Given the description of an element on the screen output the (x, y) to click on. 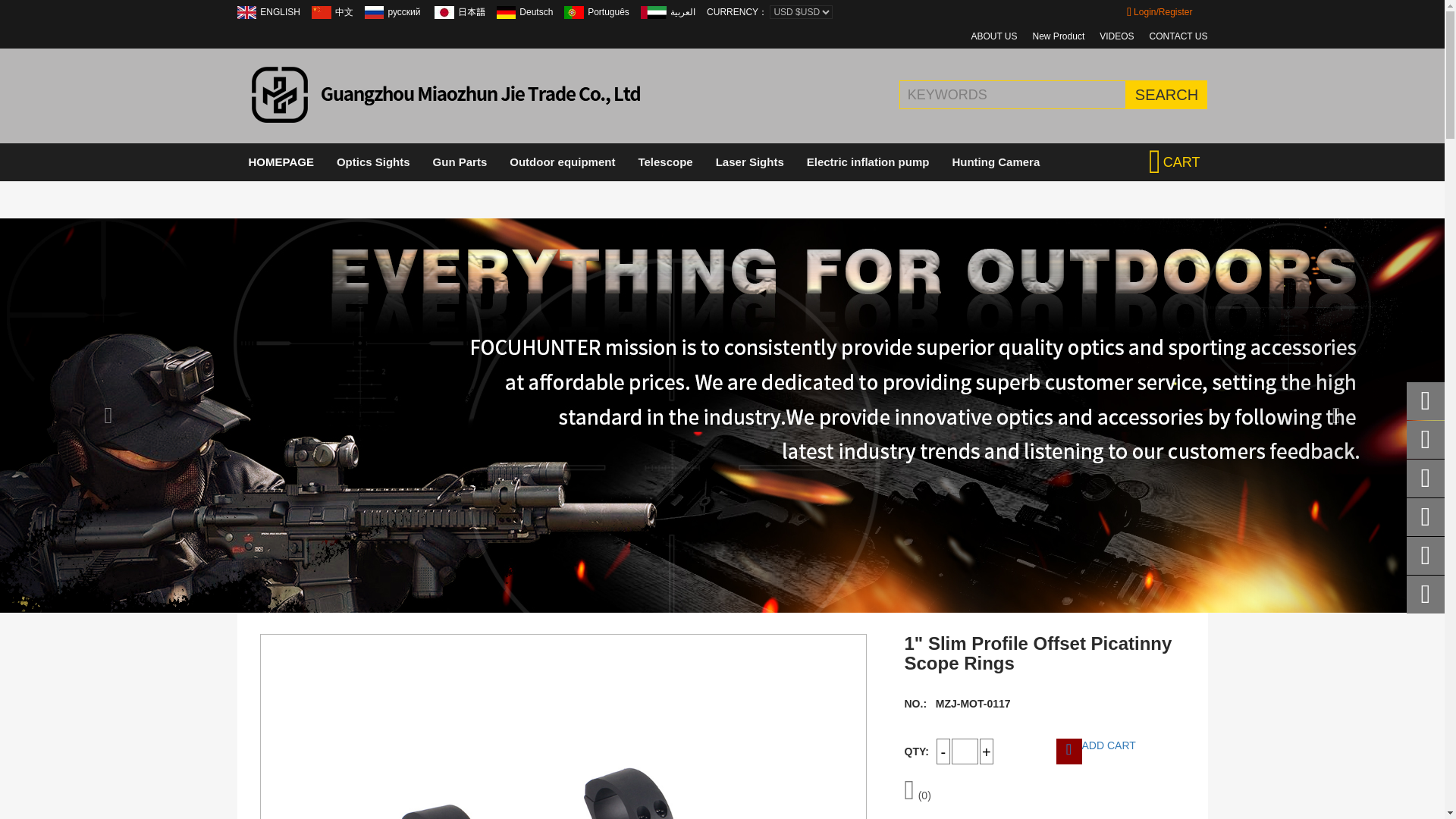
Deutsch (536, 11)
CONTACT US (1179, 36)
VIDEOS (1116, 36)
ENGLISH (245, 11)
ENGLISH (279, 11)
SEARCH (1166, 94)
Gun Parts (460, 161)
ENGLISH (279, 11)
Outdoor equipment (561, 161)
Deutsch (536, 11)
Deutsch (506, 11)
HOMEPAGE (279, 161)
Optics Sights (373, 161)
ABOUT US (993, 36)
KEYWORDS (1035, 94)
